Given the description of an element on the screen output the (x, y) to click on. 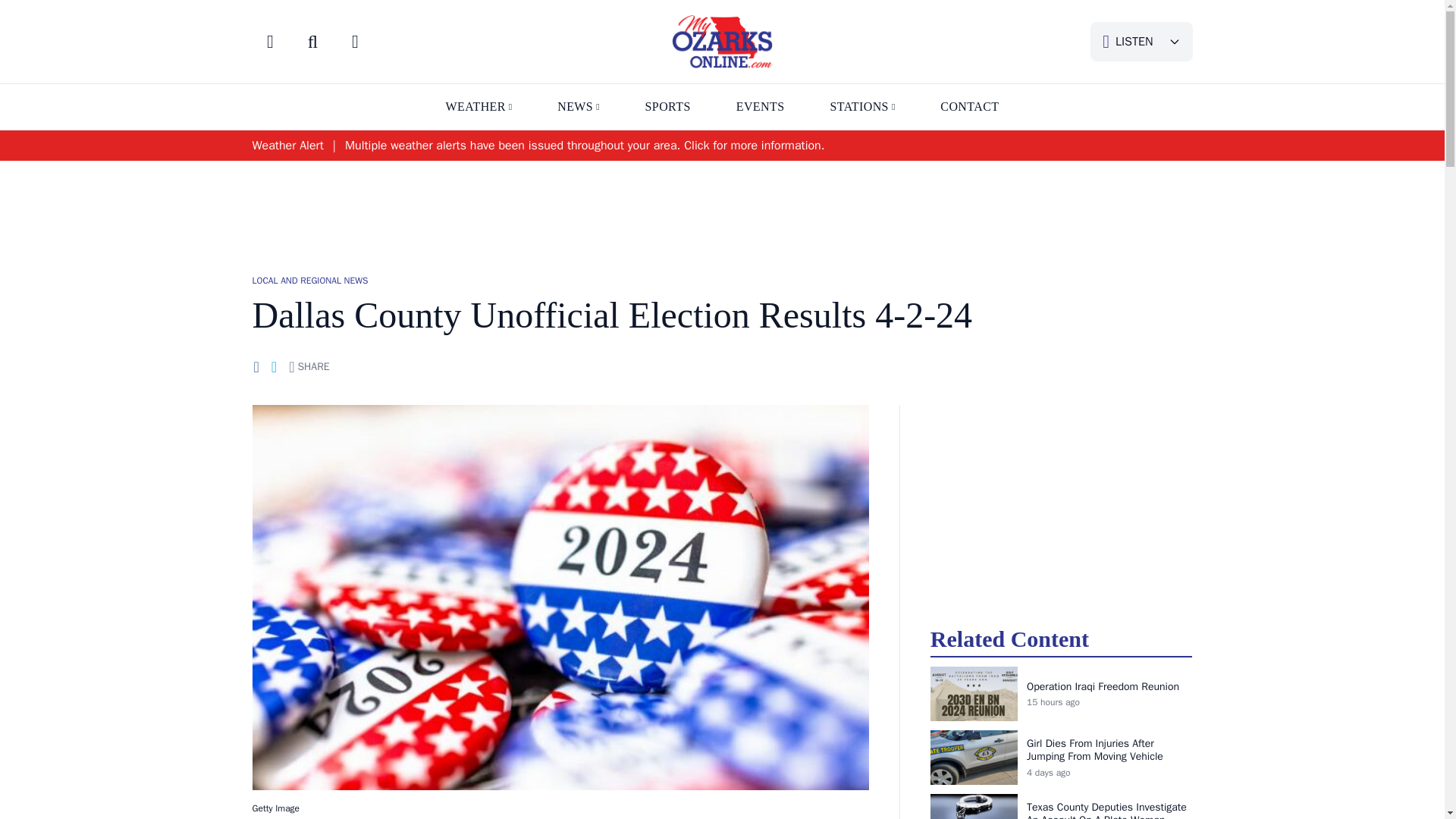
WEATHER (475, 106)
LISTEN (1141, 41)
3rd party ad content (1060, 499)
3rd party ad content (721, 210)
My Ozarks Online (721, 41)
